Given the description of an element on the screen output the (x, y) to click on. 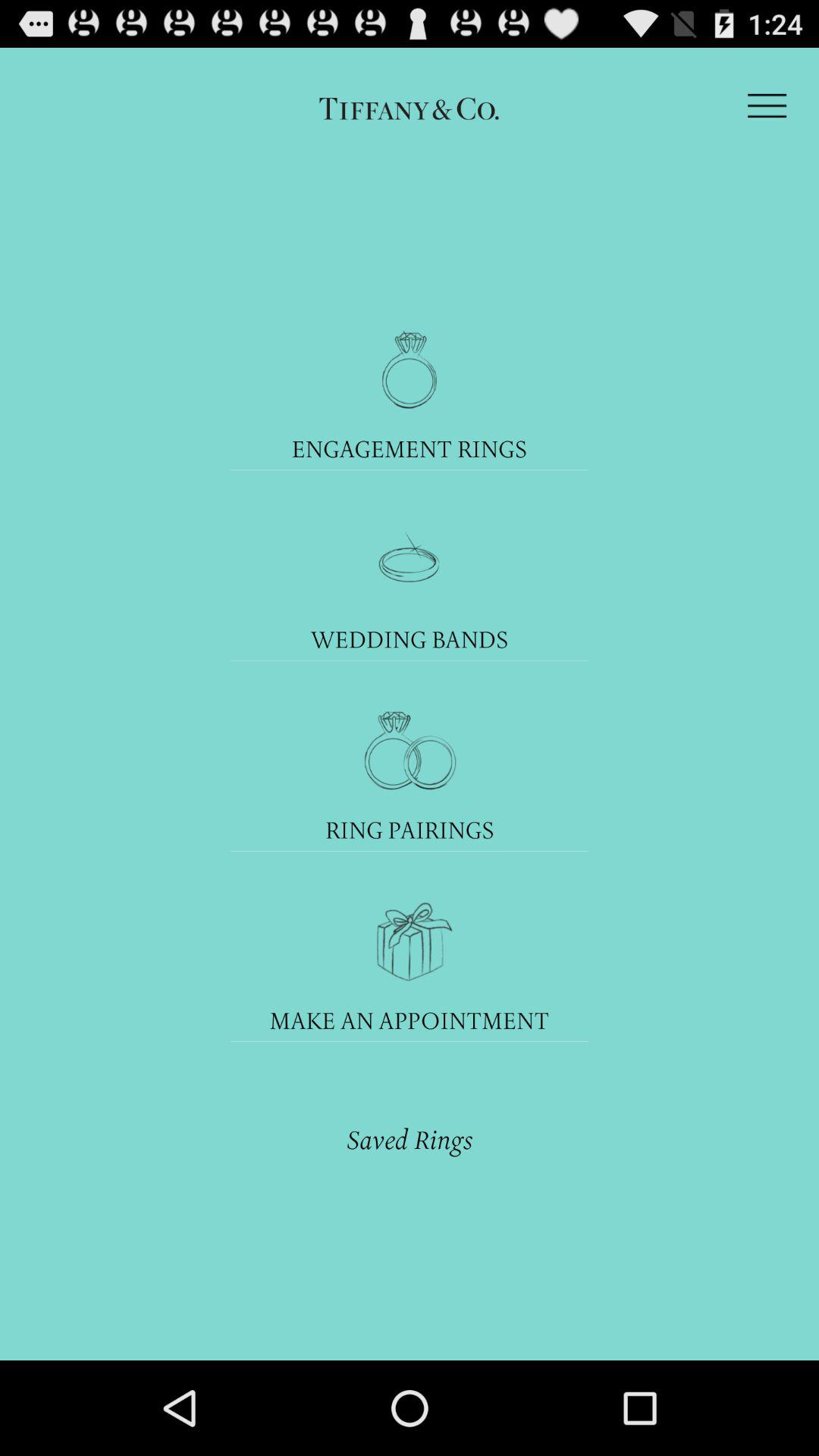
turn on icon above make an appointment icon (408, 941)
